Given the description of an element on the screen output the (x, y) to click on. 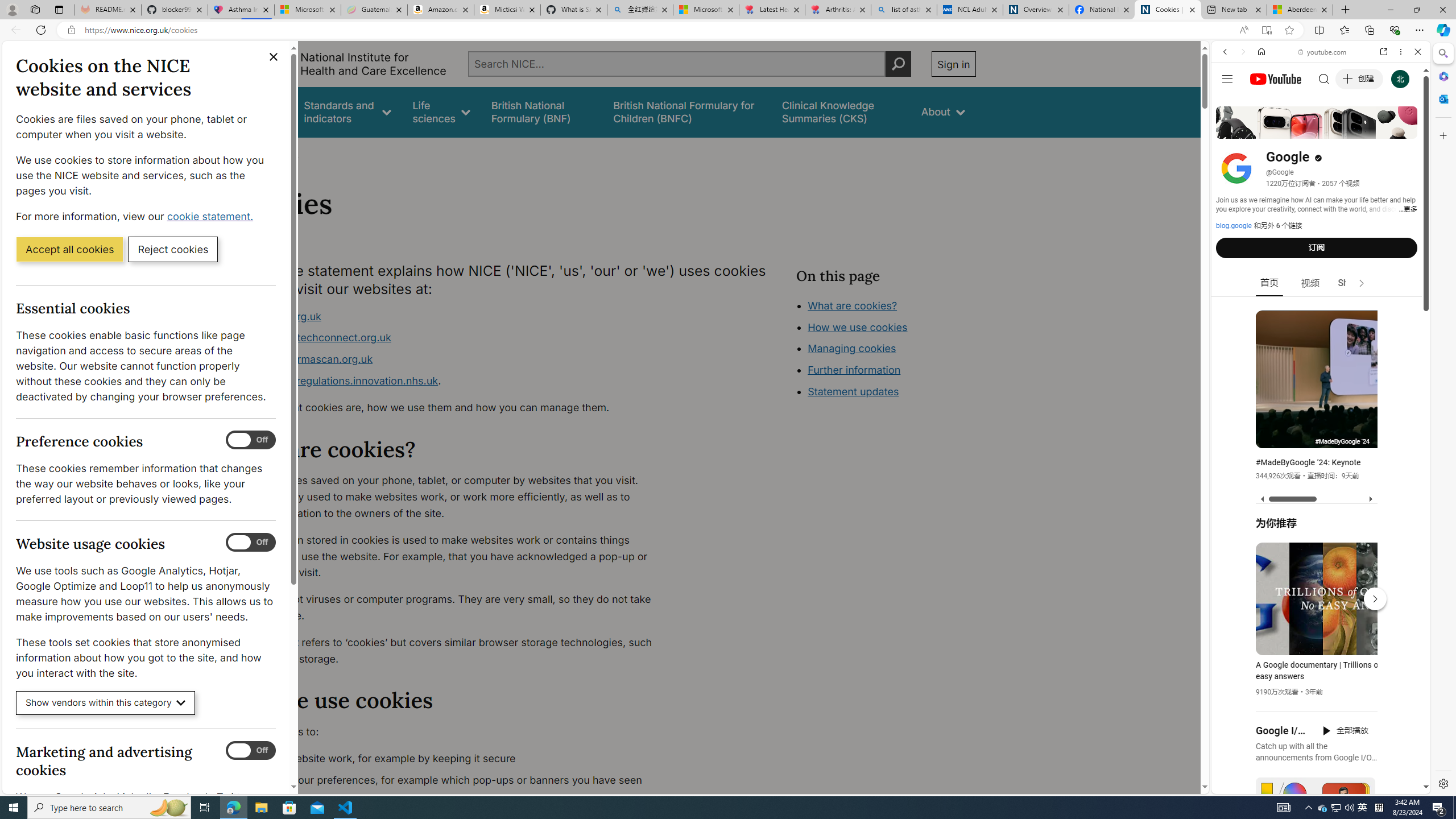
Accept all cookies (69, 248)
Class: b_serphb (1404, 130)
Asthma Inhalers: Names and Types (240, 9)
Guidance (260, 111)
youtube.com (1322, 51)
Perform search (898, 63)
NCL Adult Asthma Inhaler Choice Guideline (969, 9)
